Given the description of an element on the screen output the (x, y) to click on. 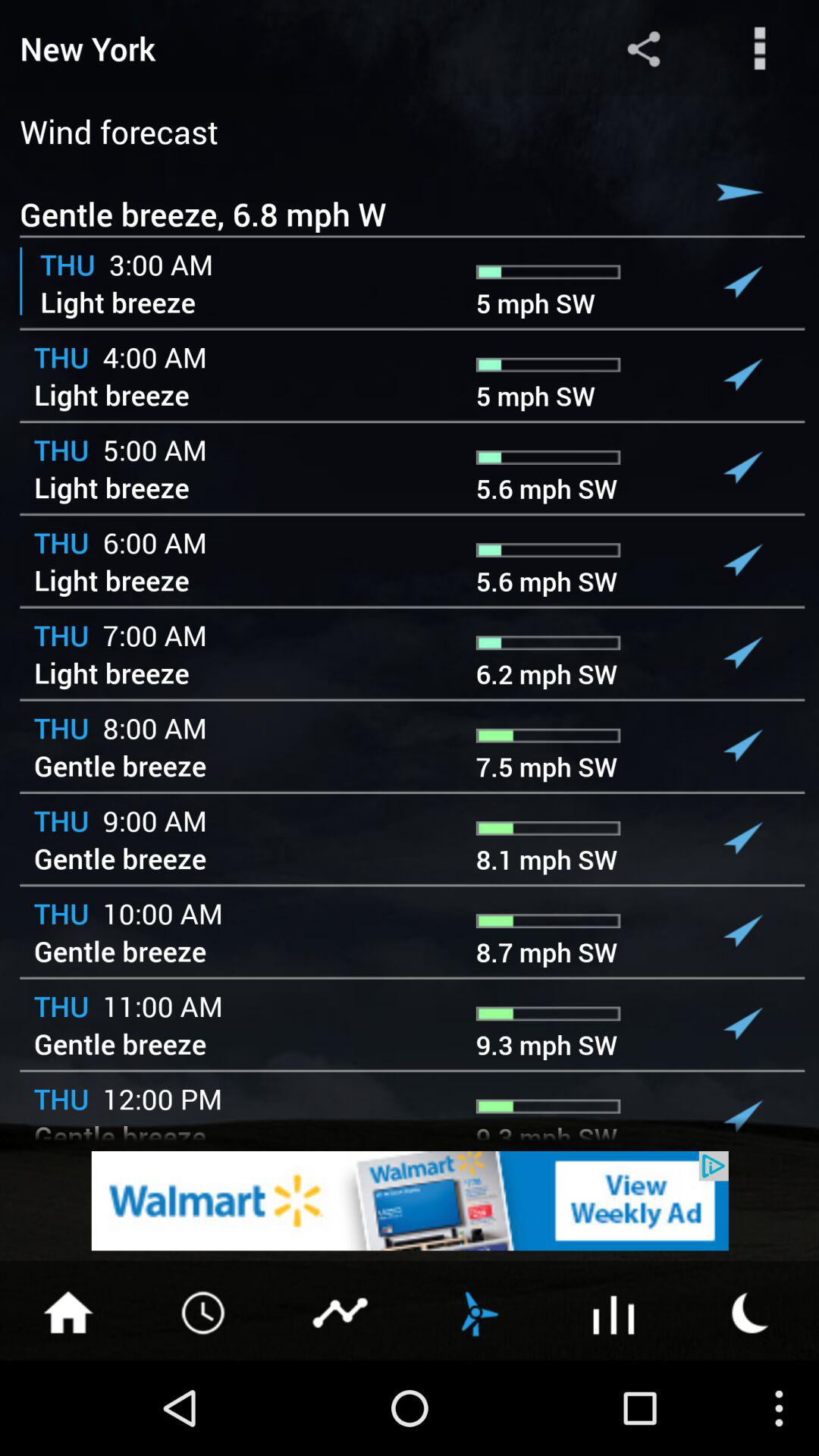
share (643, 48)
